Given the description of an element on the screen output the (x, y) to click on. 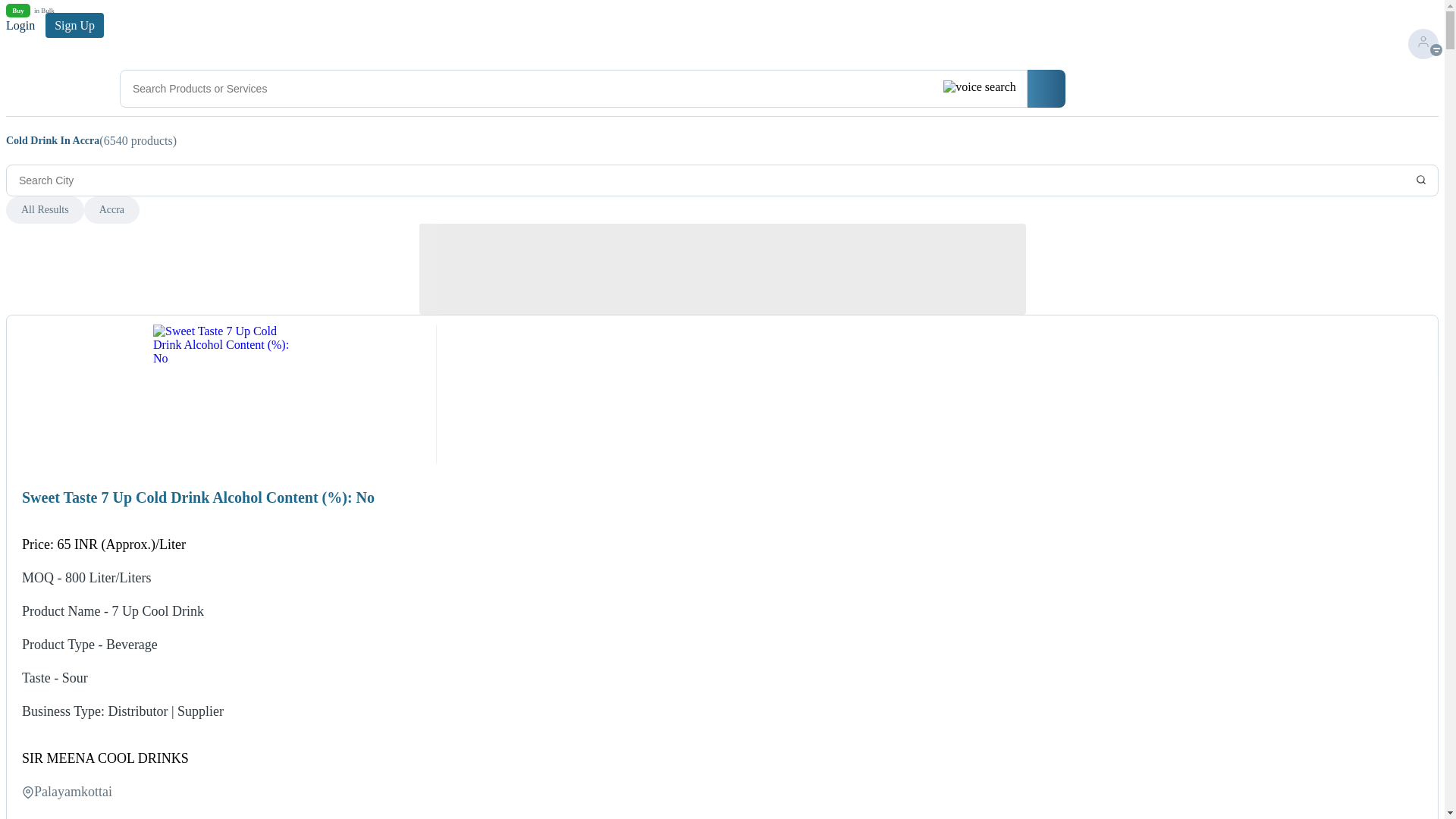
Sign Up (70, 24)
Login (21, 24)
Buy (17, 10)
Accra (43, 10)
SIR MEENA COOL DRINKS (111, 209)
All Results (105, 758)
